Given the description of an element on the screen output the (x, y) to click on. 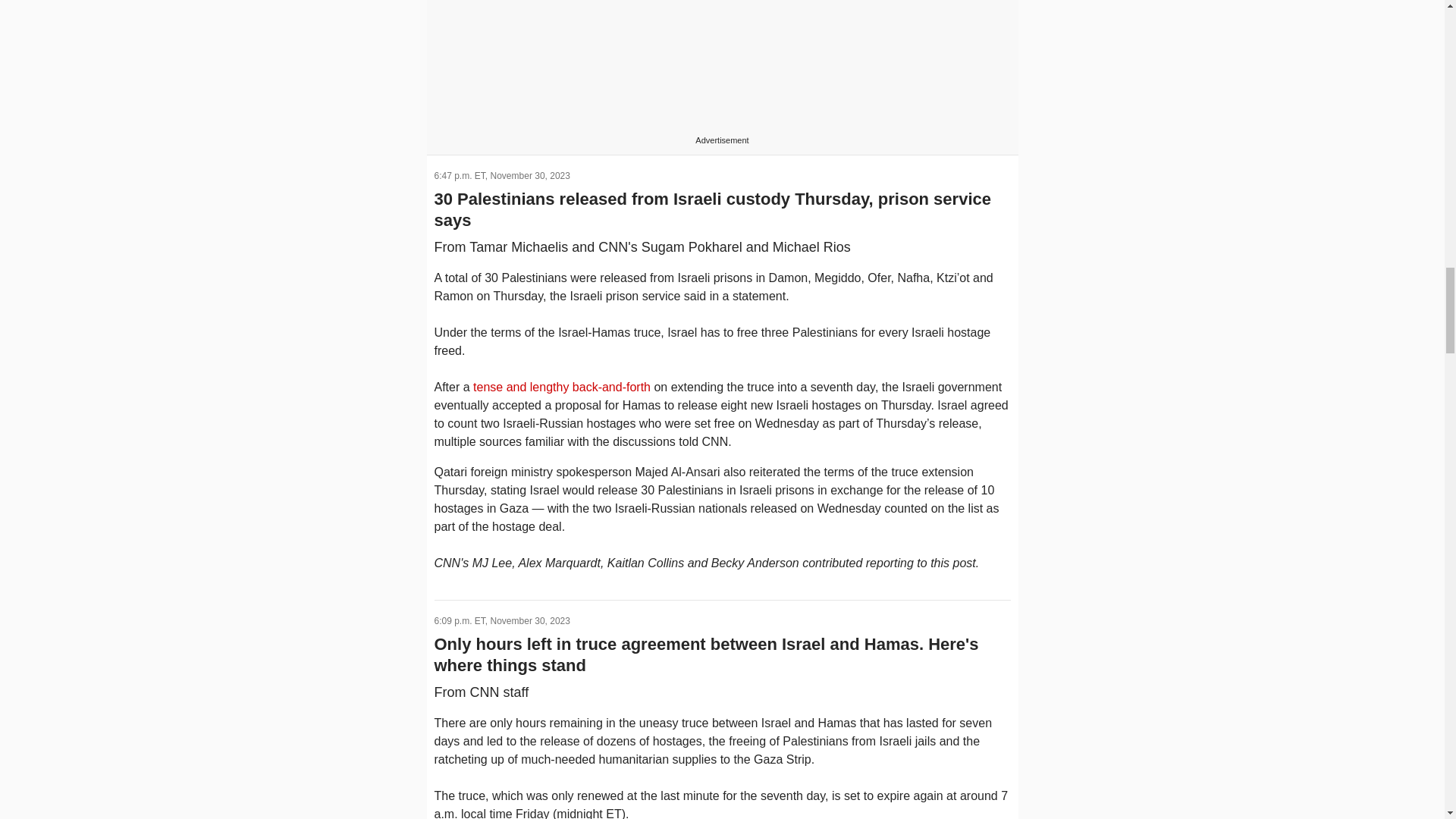
tense and lengthy back-and-forth (561, 386)
